Given the description of an element on the screen output the (x, y) to click on. 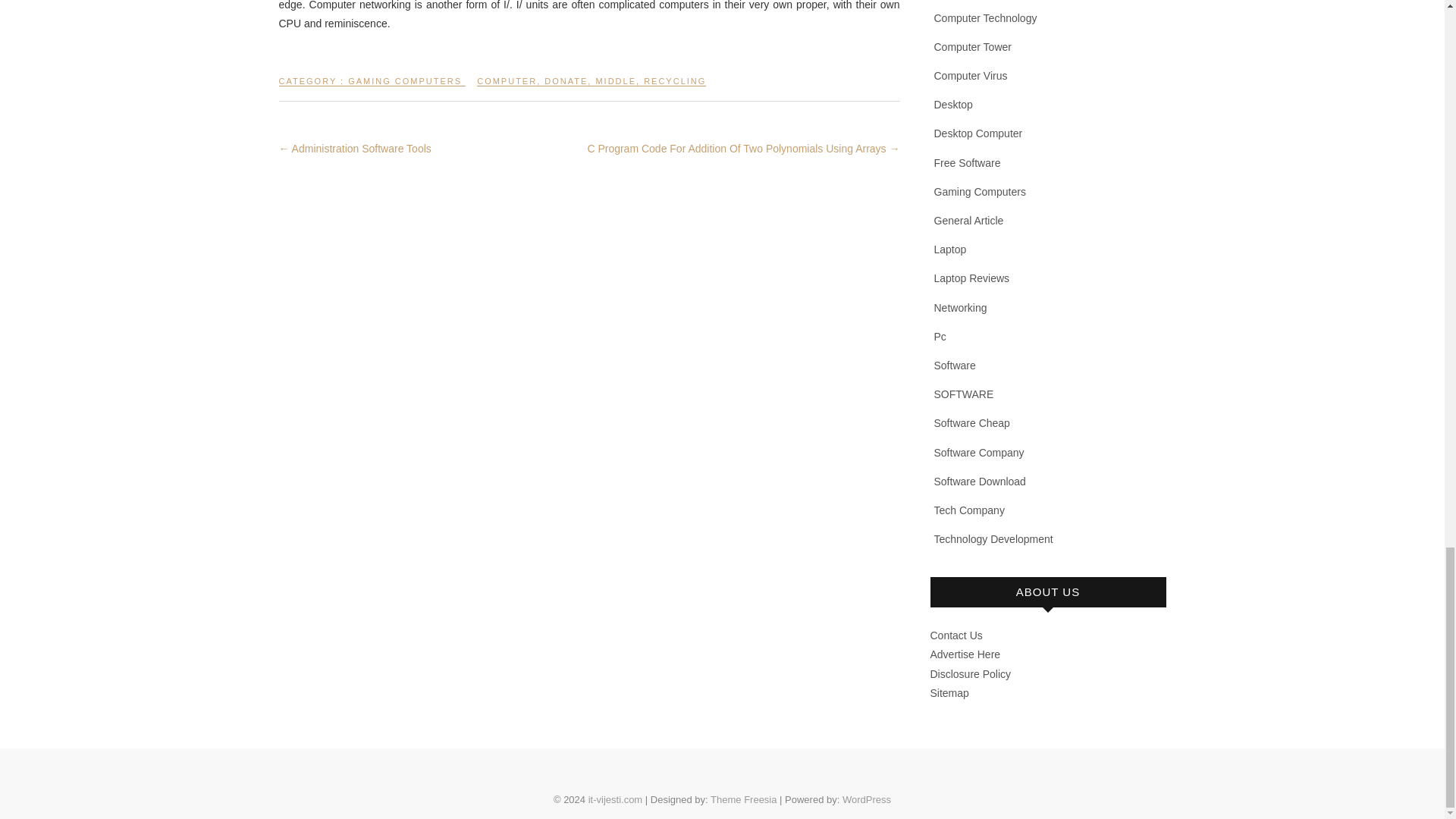
MIDDLE (615, 87)
DONATE (566, 87)
Theme Freesia (743, 799)
it-vijesti.com (615, 799)
GAMING COMPUTERS (404, 87)
COMPUTER (507, 87)
WordPress (867, 799)
